Given the description of an element on the screen output the (x, y) to click on. 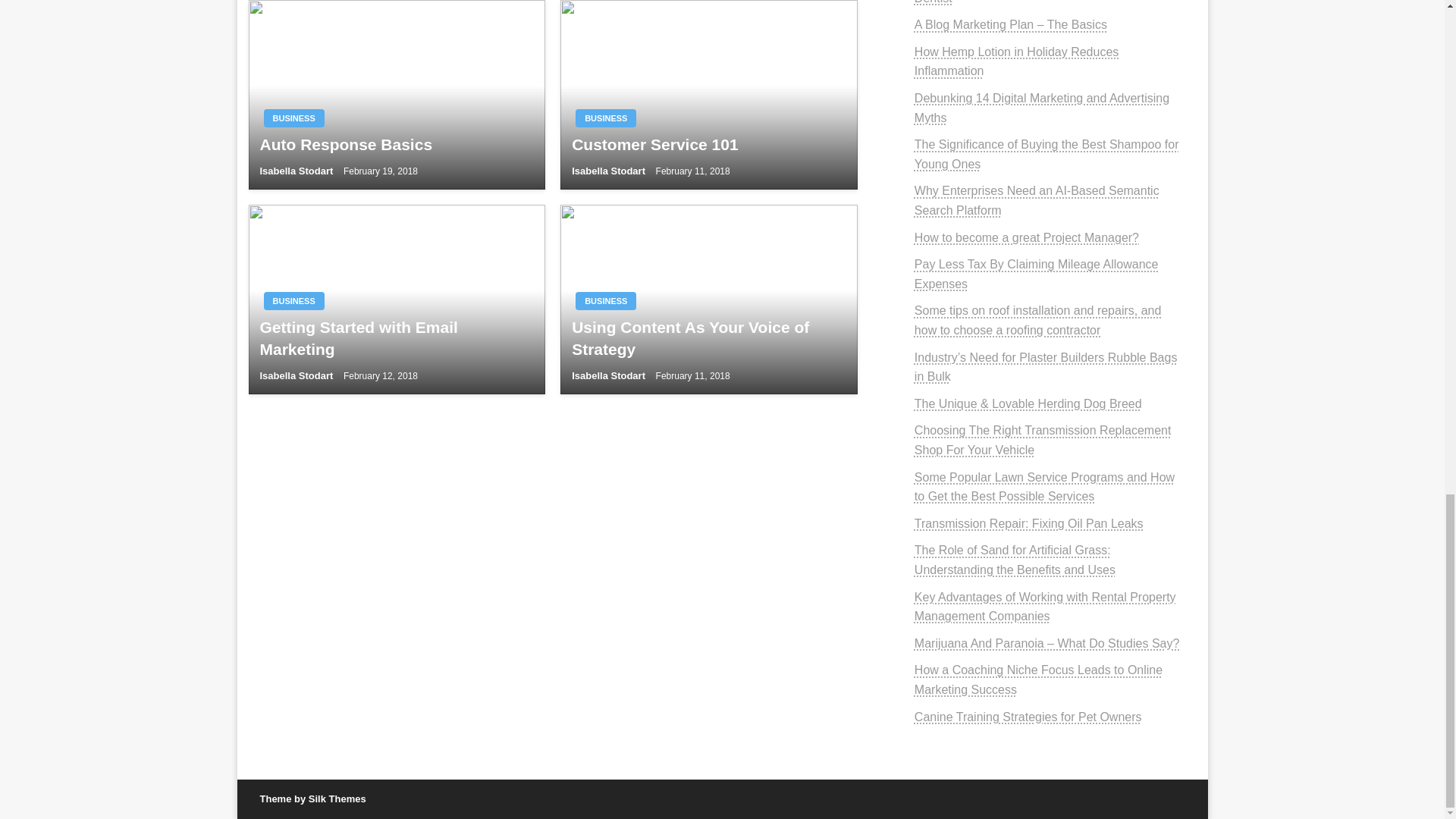
Using Content As Your Voice of Strategy (708, 338)
Isabella Stodart (609, 375)
Auto Response Basics (396, 144)
Isabella Stodart (296, 170)
BUSINESS (605, 117)
BUSINESS (605, 300)
BUSINESS (293, 117)
Isabella Stodart (296, 375)
Customer Service 101 (708, 144)
Getting Started with Email Marketing (396, 338)
Isabella Stodart (609, 170)
BUSINESS (293, 300)
